Given the description of an element on the screen output the (x, y) to click on. 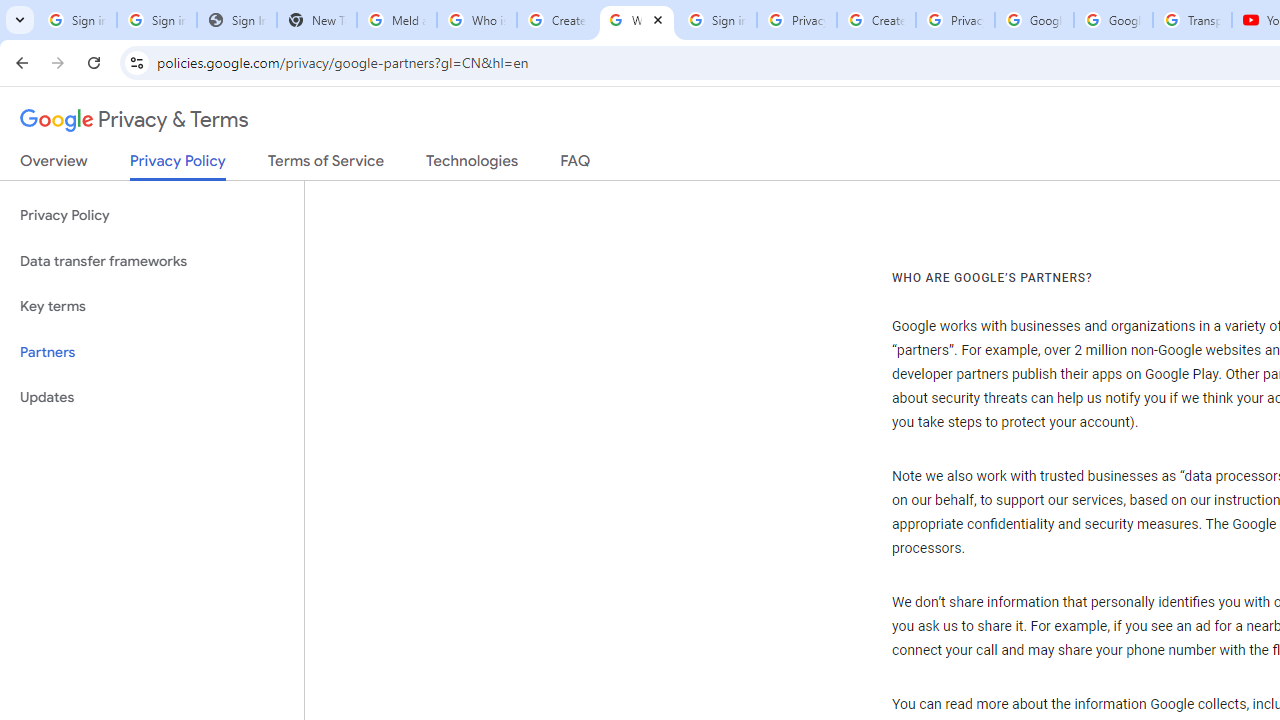
Sign in - Google Accounts (76, 20)
Sign in - Google Accounts (716, 20)
Who is my administrator? - Google Account Help (476, 20)
Sign In - USA TODAY (236, 20)
Google Account (1113, 20)
Sign in - Google Accounts (156, 20)
